Given the description of an element on the screen output the (x, y) to click on. 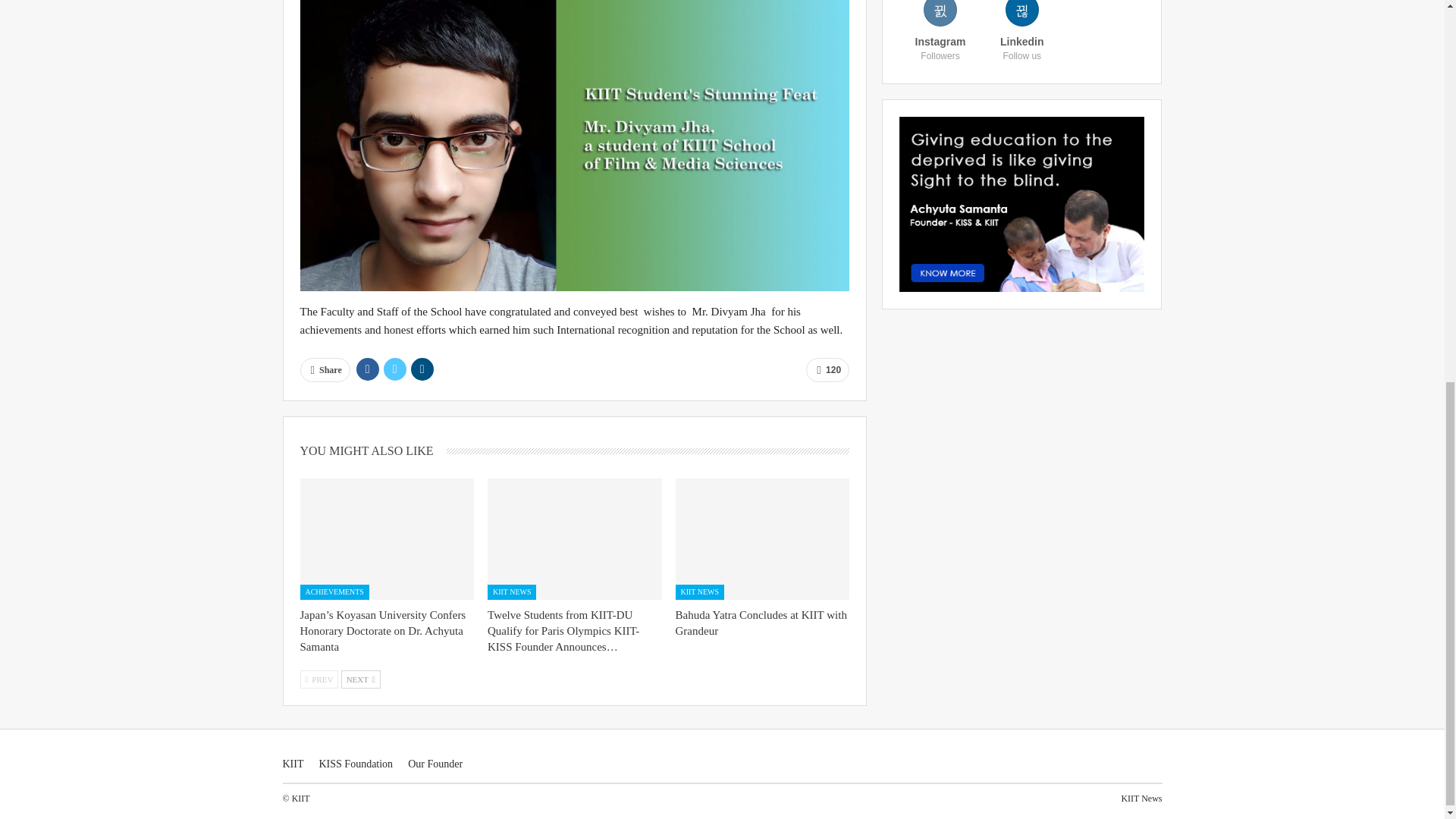
Bahuda Yatra Concludes at KIIT with Grandeur (761, 623)
KIIT NEWS (511, 592)
Bahuda Yatra Concludes at KIIT with Grandeur (762, 539)
Next (360, 679)
Bahuda Yatra Concludes at KIIT with Grandeur (761, 623)
ACHIEVEMENTS (334, 592)
KIIT NEWS (699, 592)
Previous (319, 679)
